Given the description of an element on the screen output the (x, y) to click on. 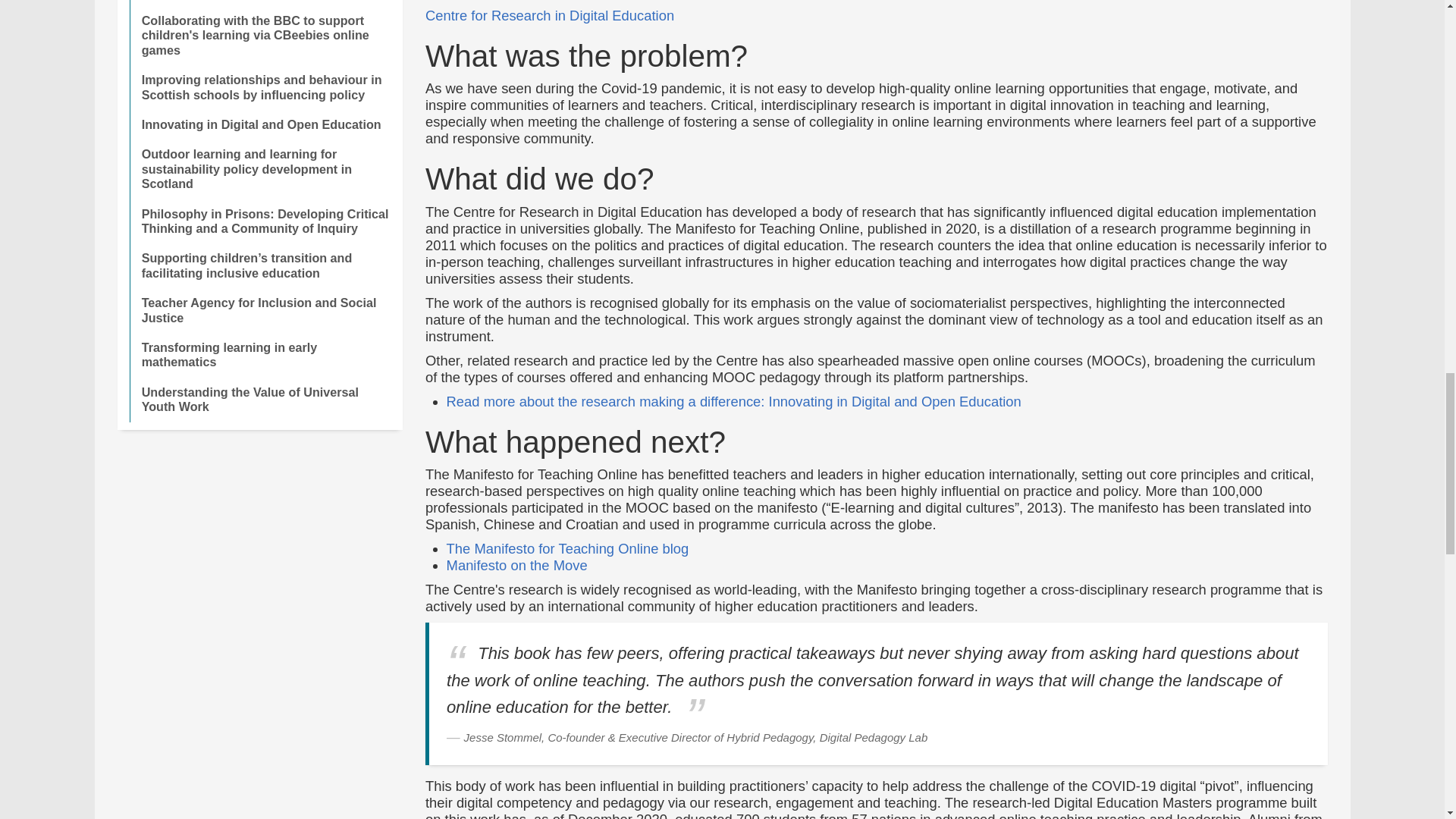
Innovating in Digital and Open Education (266, 124)
Teacher Agency for Inclusion and Social Justice (266, 310)
Transforming learning in early mathematics (266, 354)
